Given the description of an element on the screen output the (x, y) to click on. 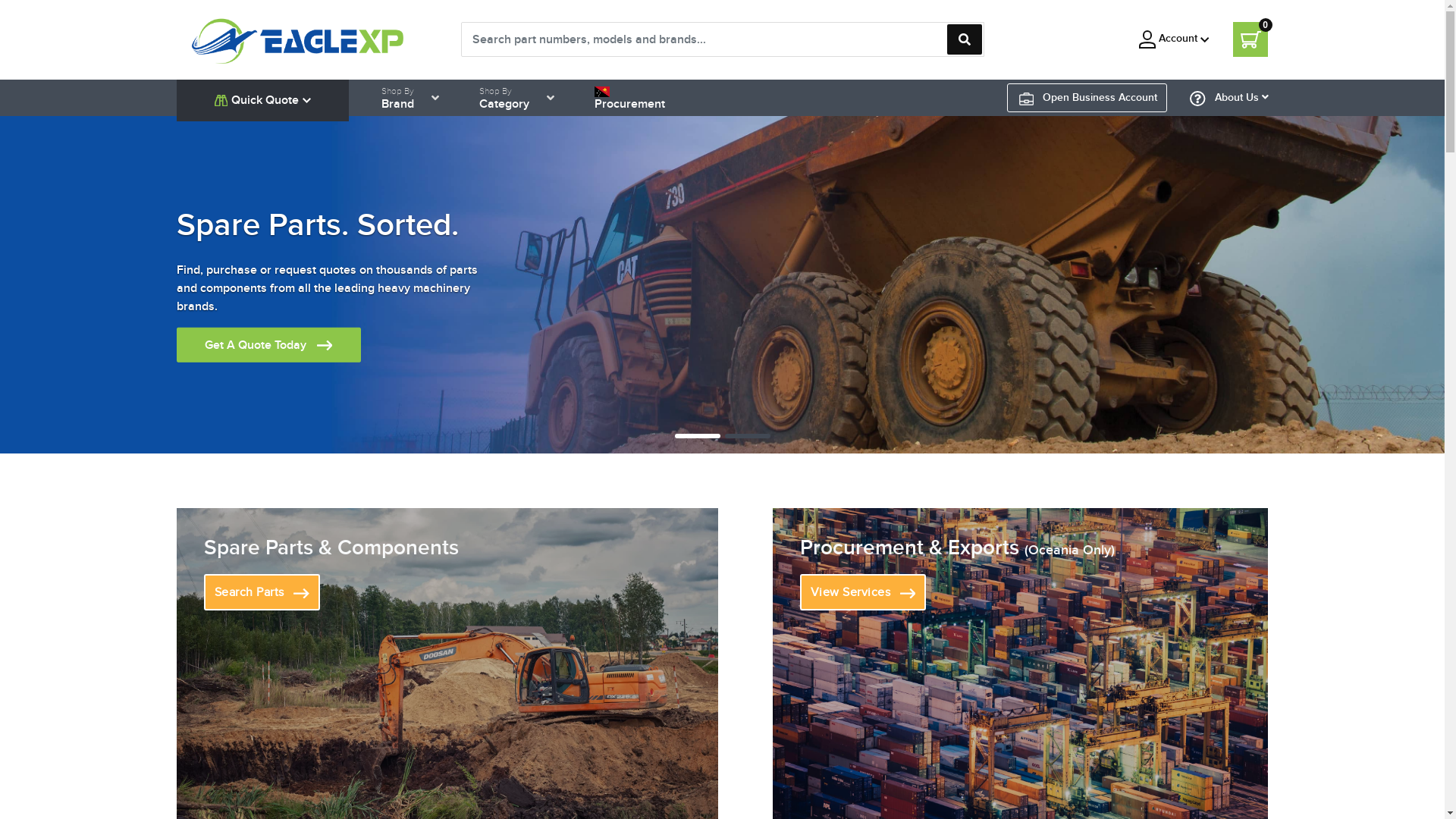
0 Element type: text (1250, 38)
Search Parts Element type: text (261, 592)
Shop By
Category Element type: text (504, 97)
Quick Quote Element type: text (261, 99)
View Services Element type: text (863, 592)
EagleXP Element type: hover (297, 38)
Open Business Account Element type: text (1088, 97)
Account Element type: text (1173, 39)
About Us Element type: text (1228, 97)
Search Element type: text (963, 39)
Shop By
Brand Element type: text (397, 97)
Procurement Element type: text (629, 97)
